Given the description of an element on the screen output the (x, y) to click on. 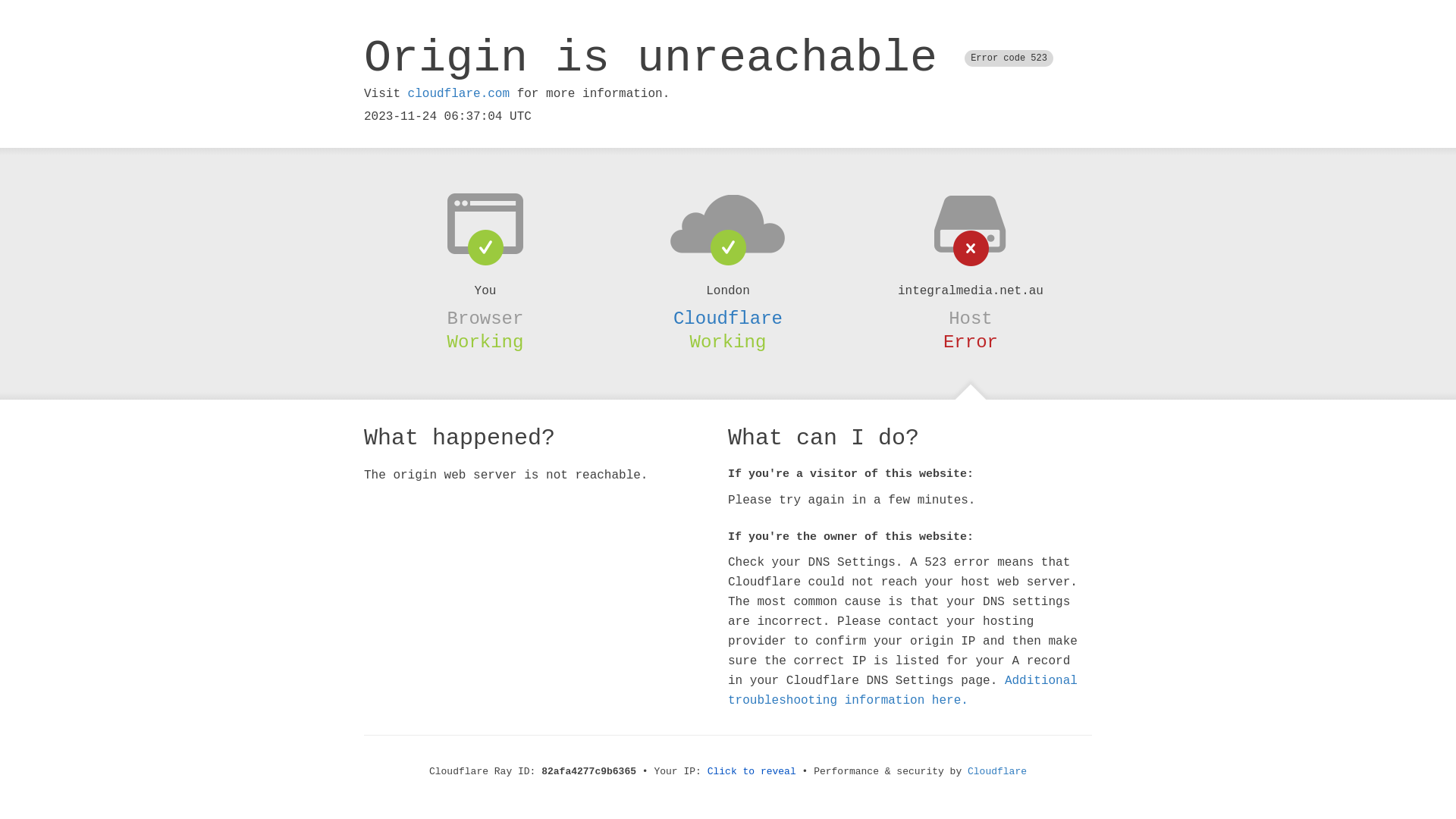
Click to reveal Element type: text (751, 771)
cloudflare.com Element type: text (458, 93)
Cloudflare Element type: text (996, 771)
Cloudflare Element type: text (727, 318)
Additional troubleshooting information here. Element type: text (902, 690)
